Given the description of an element on the screen output the (x, y) to click on. 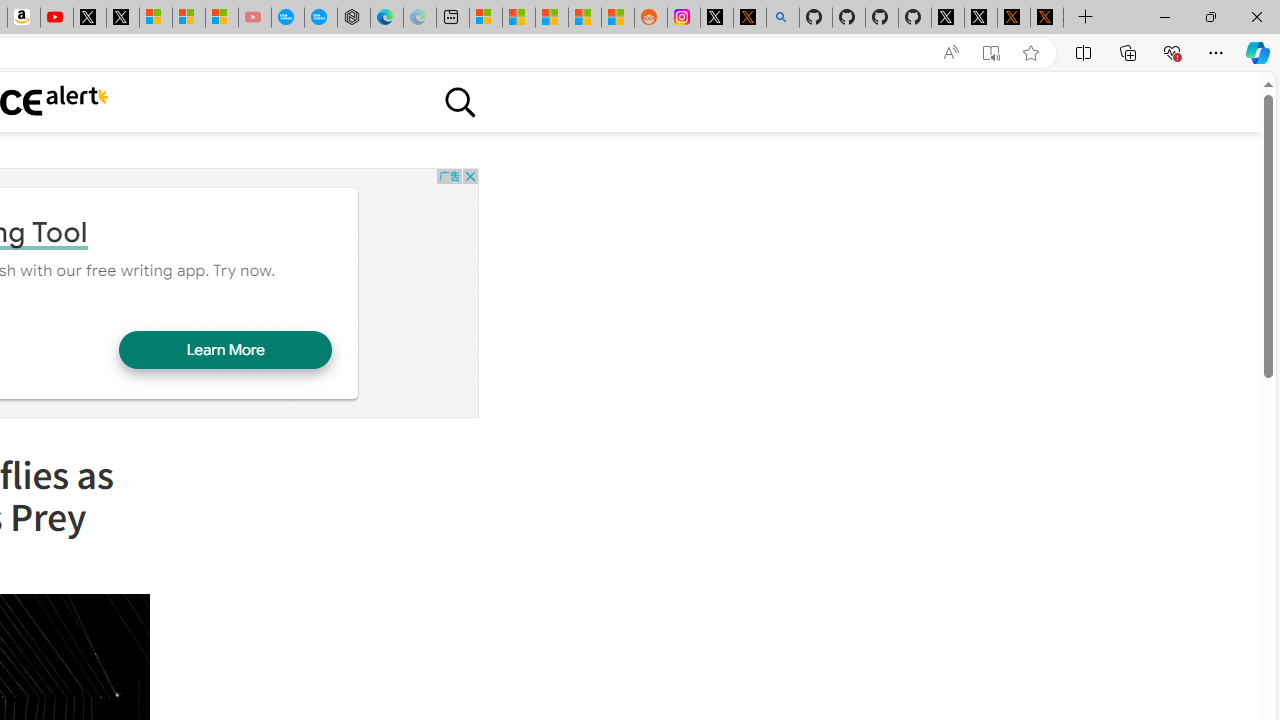
Profile / X (947, 17)
Opinion: Op-Ed and Commentary - USA TODAY (287, 17)
Enter Immersive Reader (F9) (991, 53)
Nordace - Nordace has arrived Hong Kong (353, 17)
